Given the description of an element on the screen output the (x, y) to click on. 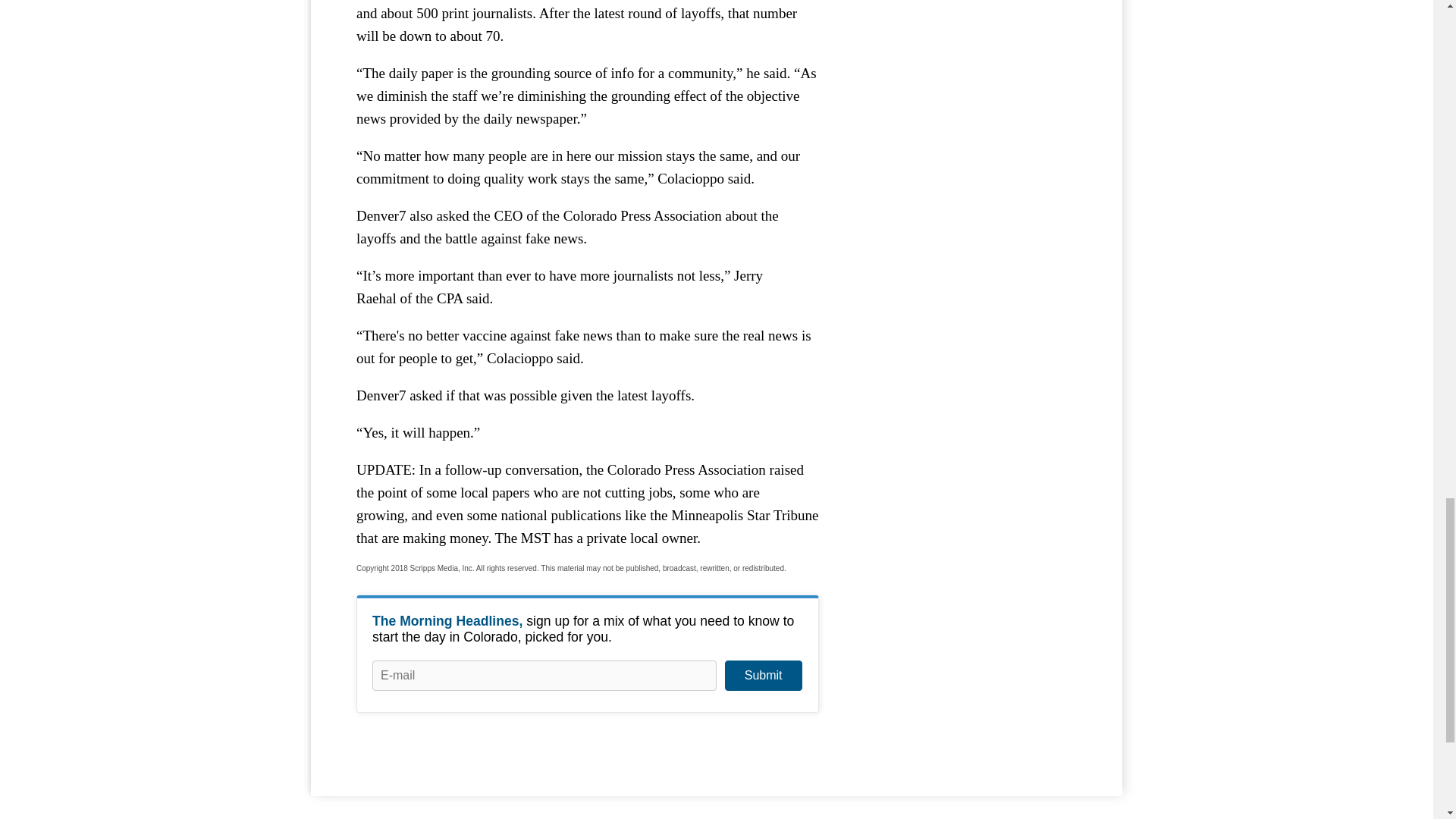
Submit (763, 675)
